Given the description of an element on the screen output the (x, y) to click on. 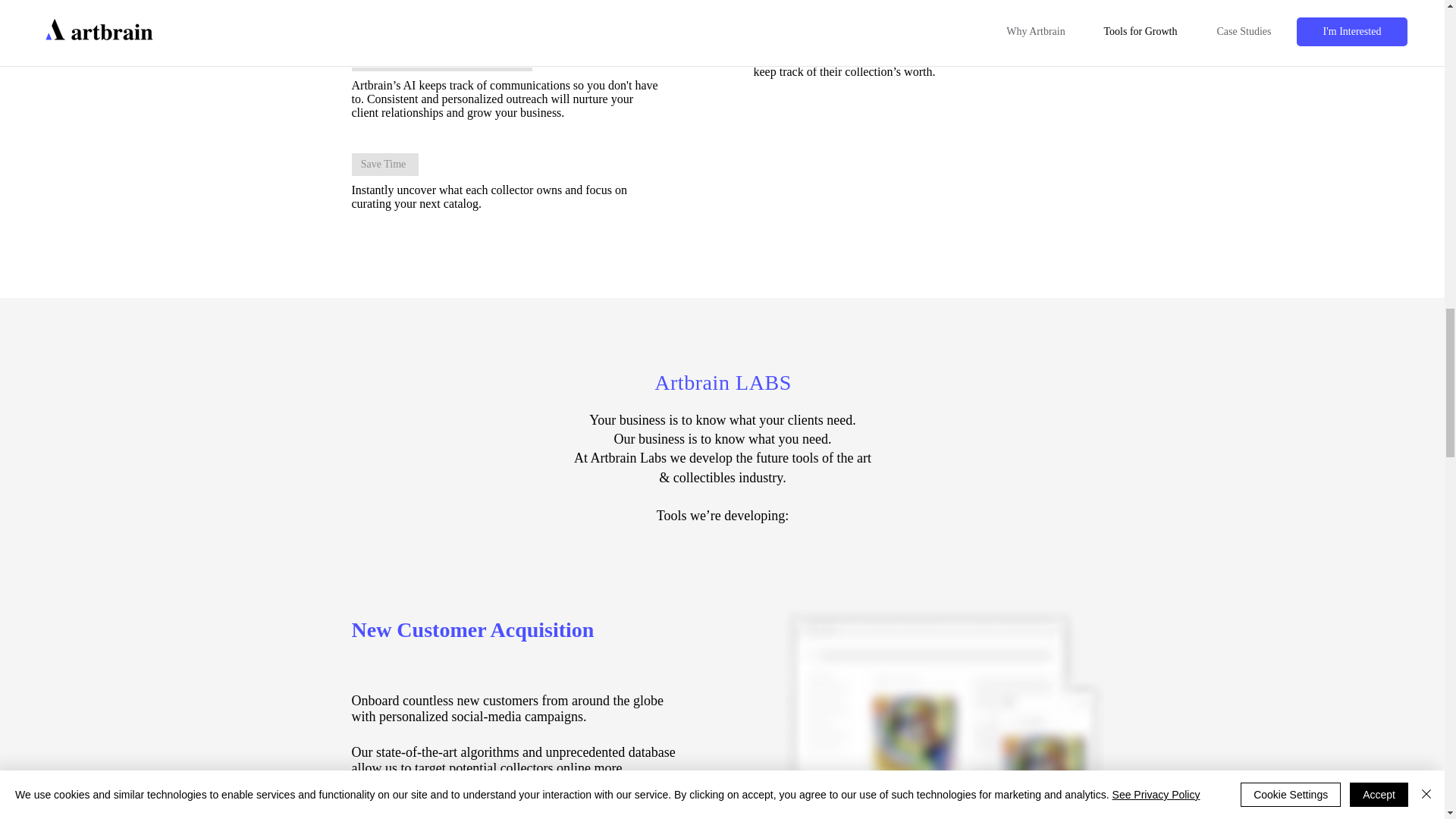
Develop Long Term Relationships (442, 59)
Save Time (385, 164)
Develop Trust (796, 18)
